Given the description of an element on the screen output the (x, y) to click on. 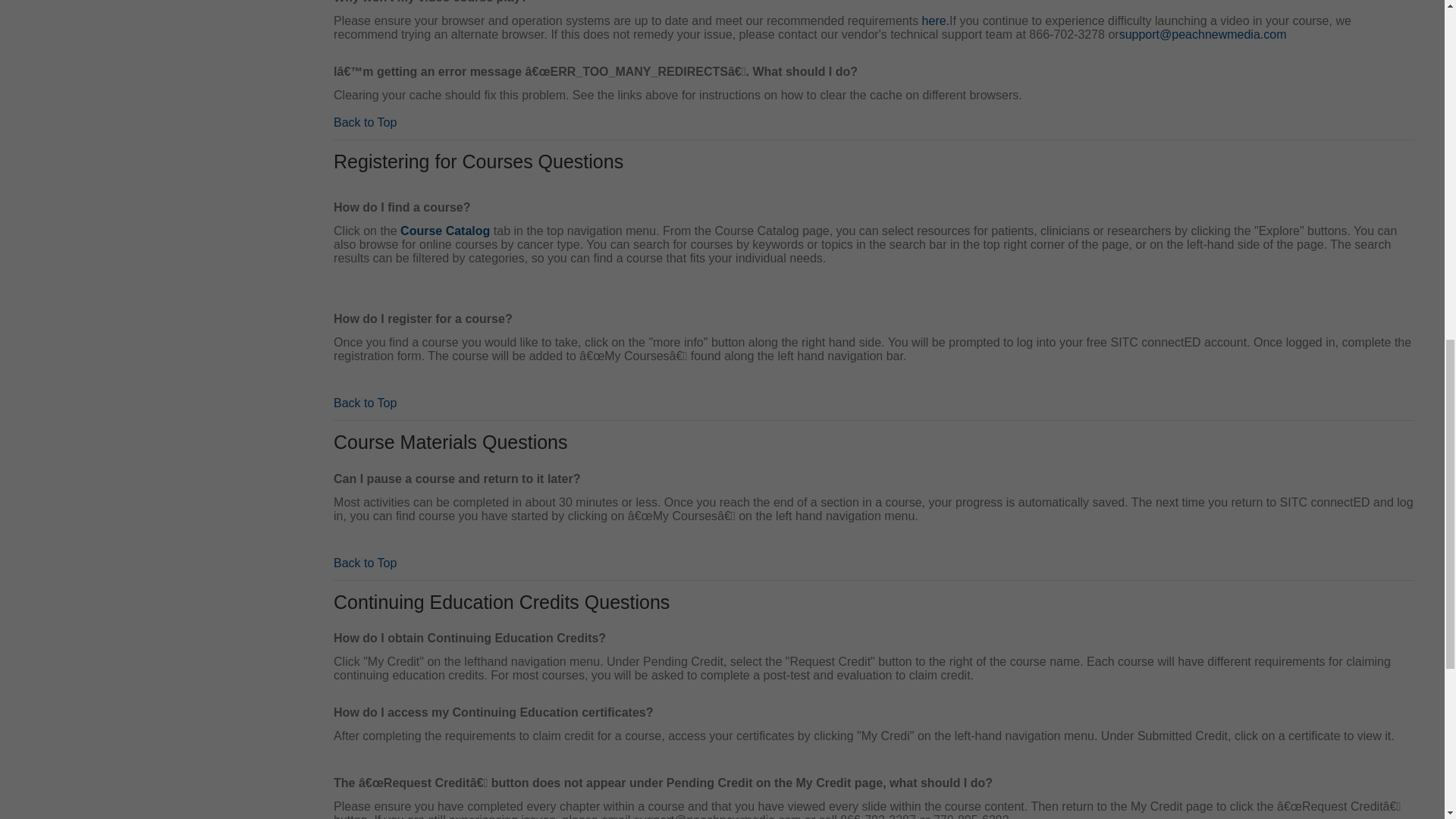
Back to Top (364, 121)
here. (935, 19)
